Given the description of an element on the screen output the (x, y) to click on. 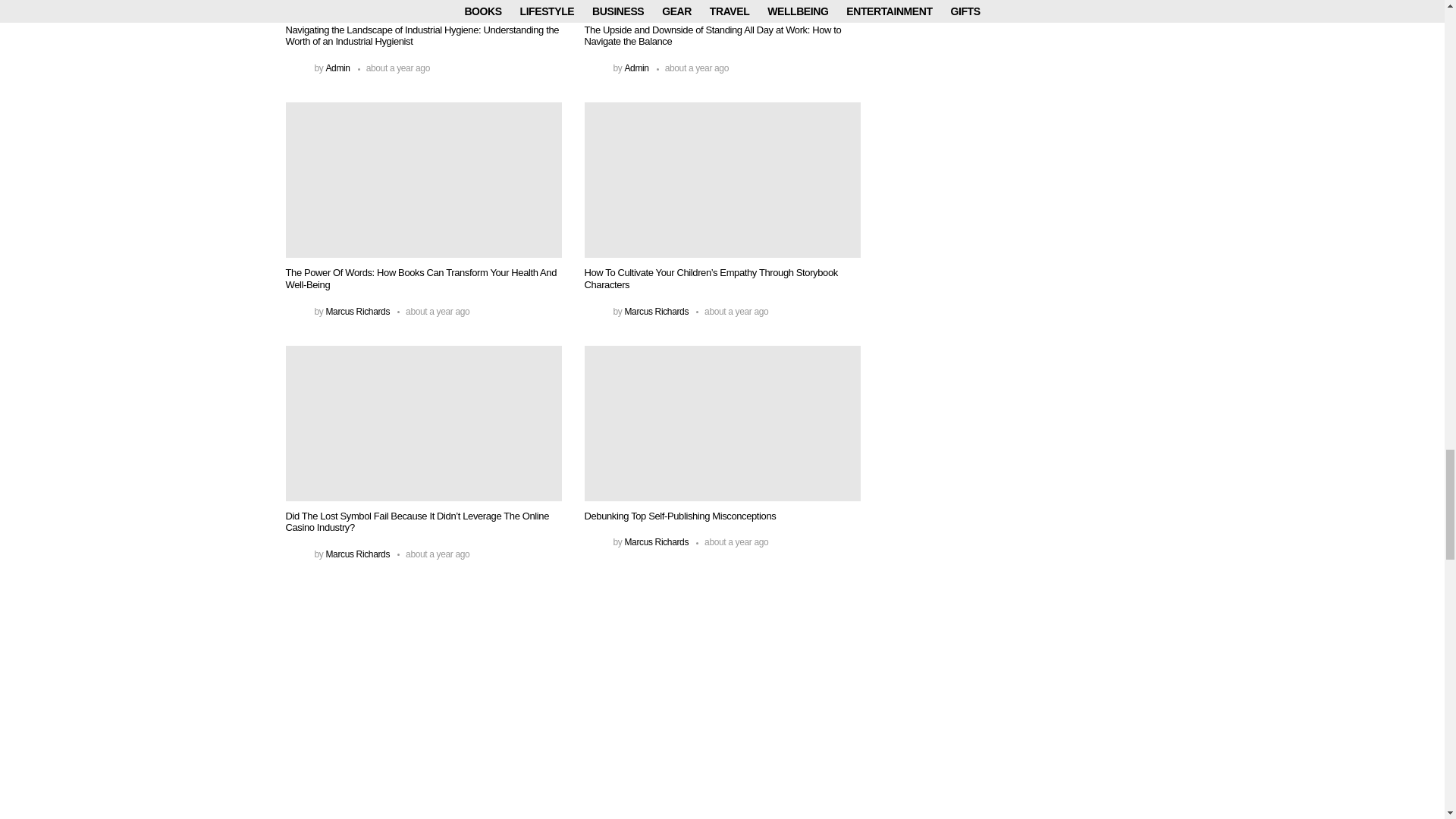
Posts by Admin (336, 68)
